Given the description of an element on the screen output the (x, y) to click on. 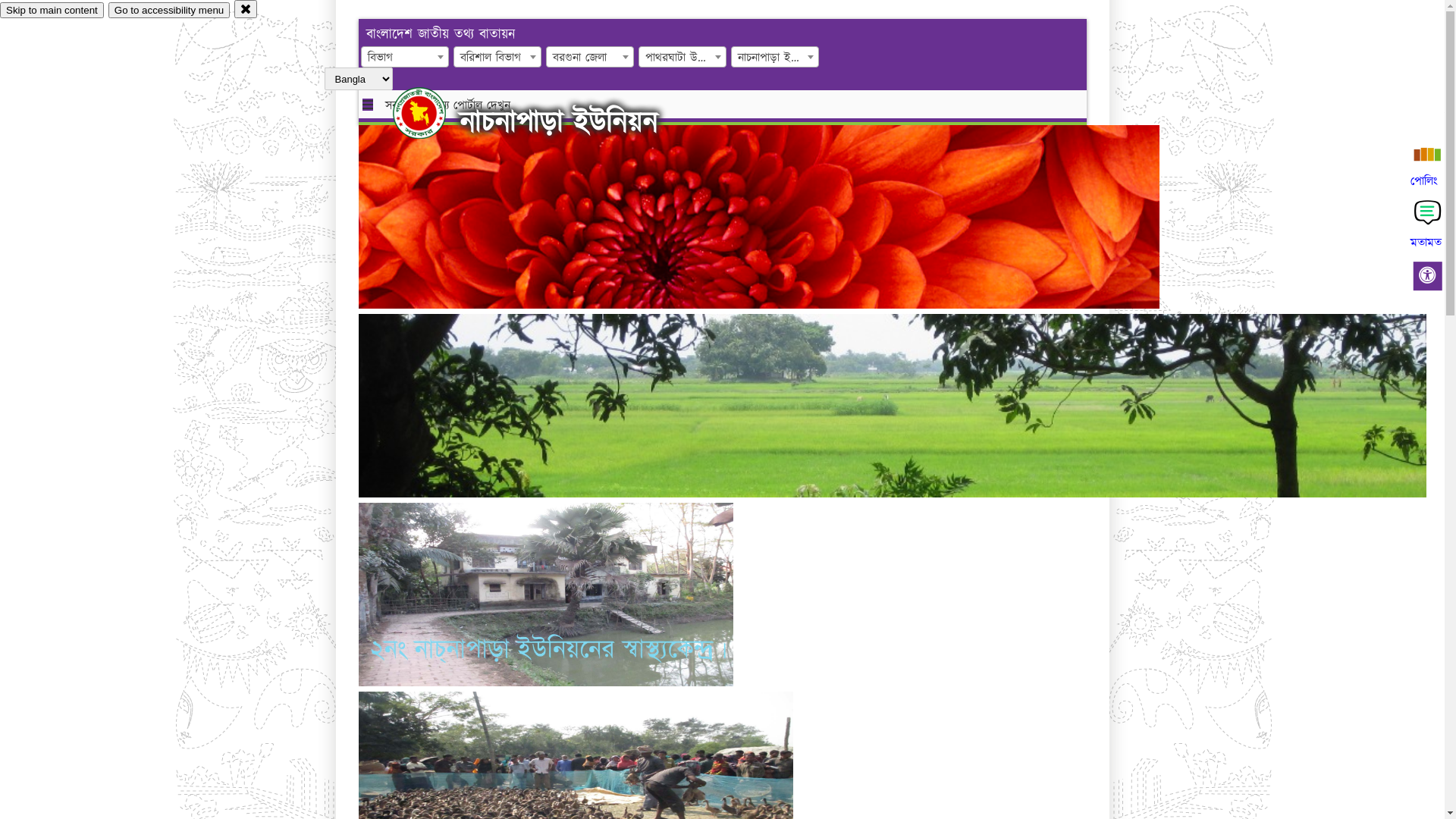
close Element type: hover (245, 9)
Go to accessibility menu Element type: text (168, 10)

                
             Element type: hover (431, 112)
Skip to main content Element type: text (51, 10)
